Given the description of an element on the screen output the (x, y) to click on. 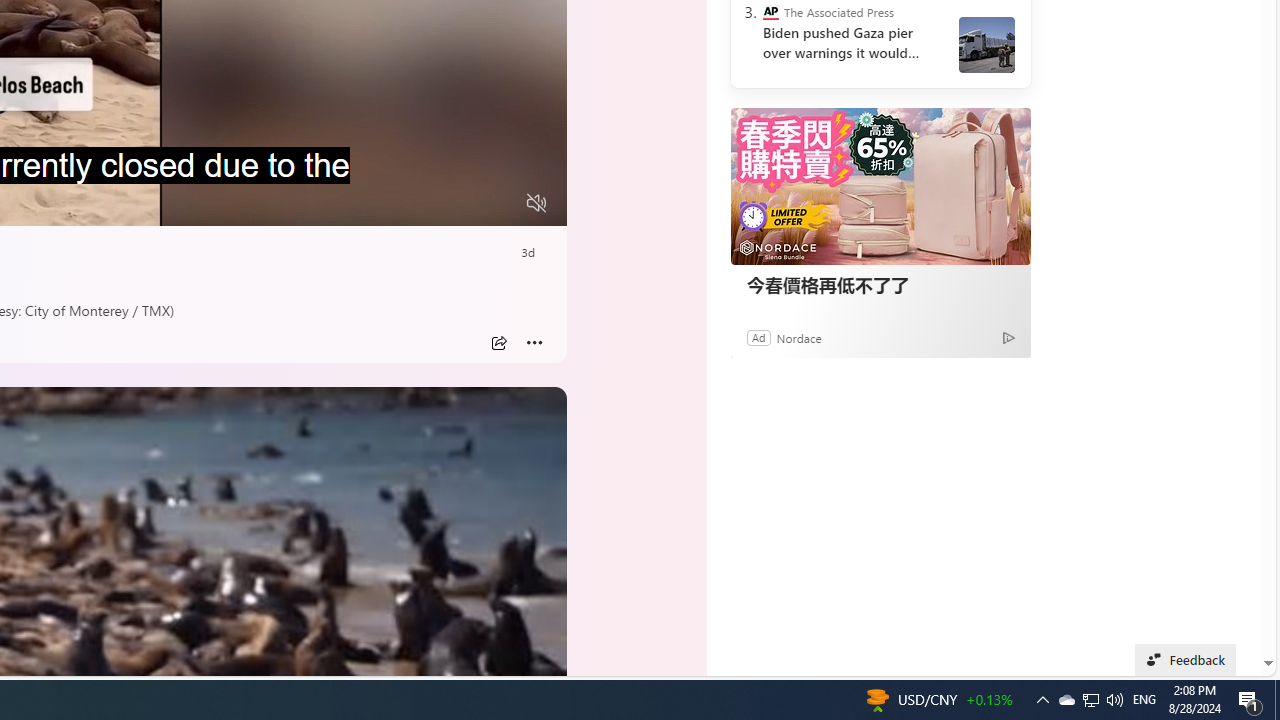
Unmute (535, 203)
More (534, 343)
Captions (457, 203)
Share (498, 343)
Fullscreen (497, 203)
More (534, 343)
The Associated Press (770, 12)
